Given the description of an element on the screen output the (x, y) to click on. 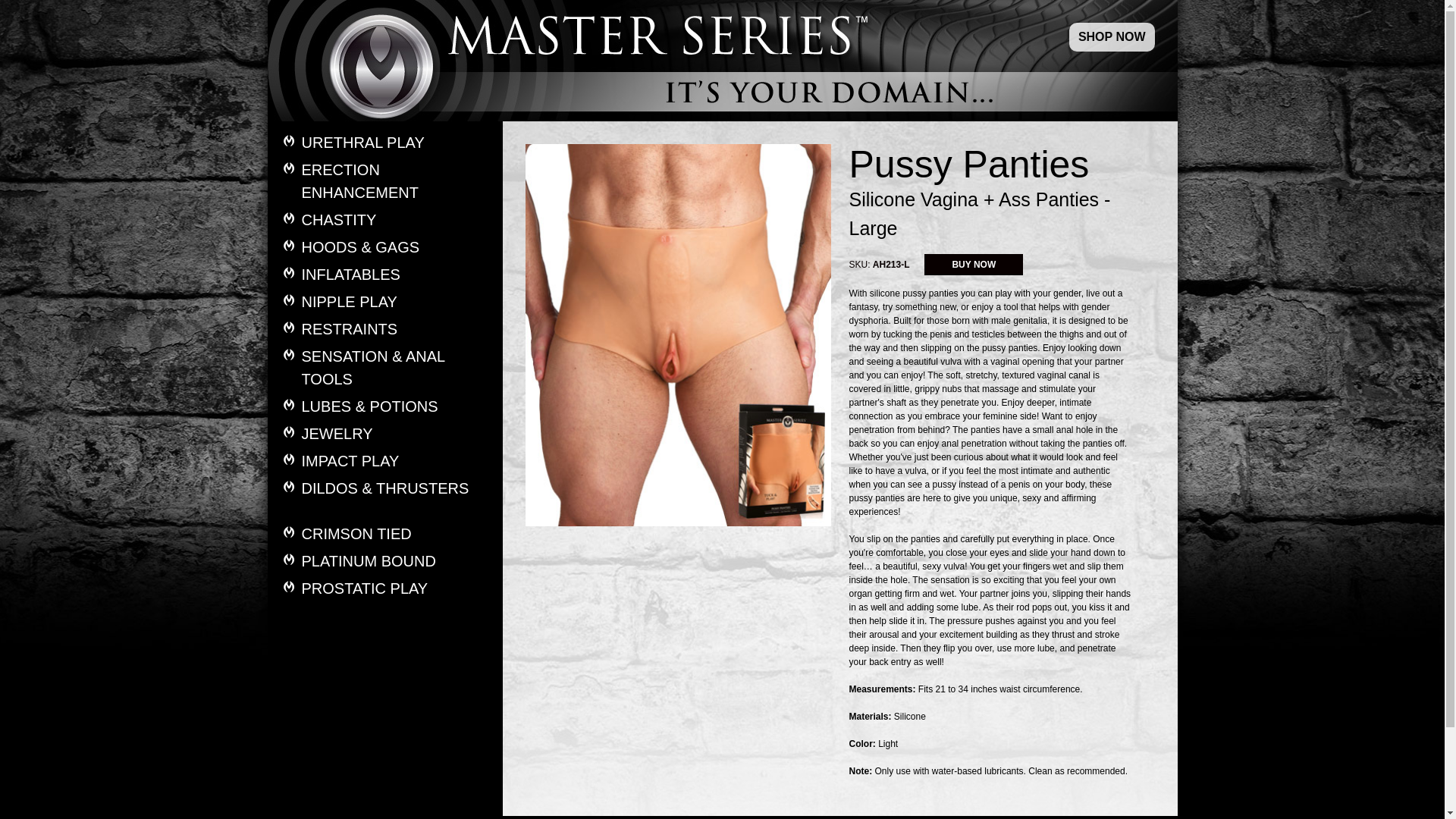
IMPACT PLAY (396, 460)
CHASTITY (396, 219)
PLATINUM BOUND (396, 560)
SHOP NOW (1111, 36)
PROSTATIC PLAY (396, 588)
JEWELRY (396, 433)
BUY NOW (973, 263)
INFLATABLES (396, 273)
ERECTION ENHANCEMENT (396, 180)
CRIMSON TIED (396, 533)
